Given the description of an element on the screen output the (x, y) to click on. 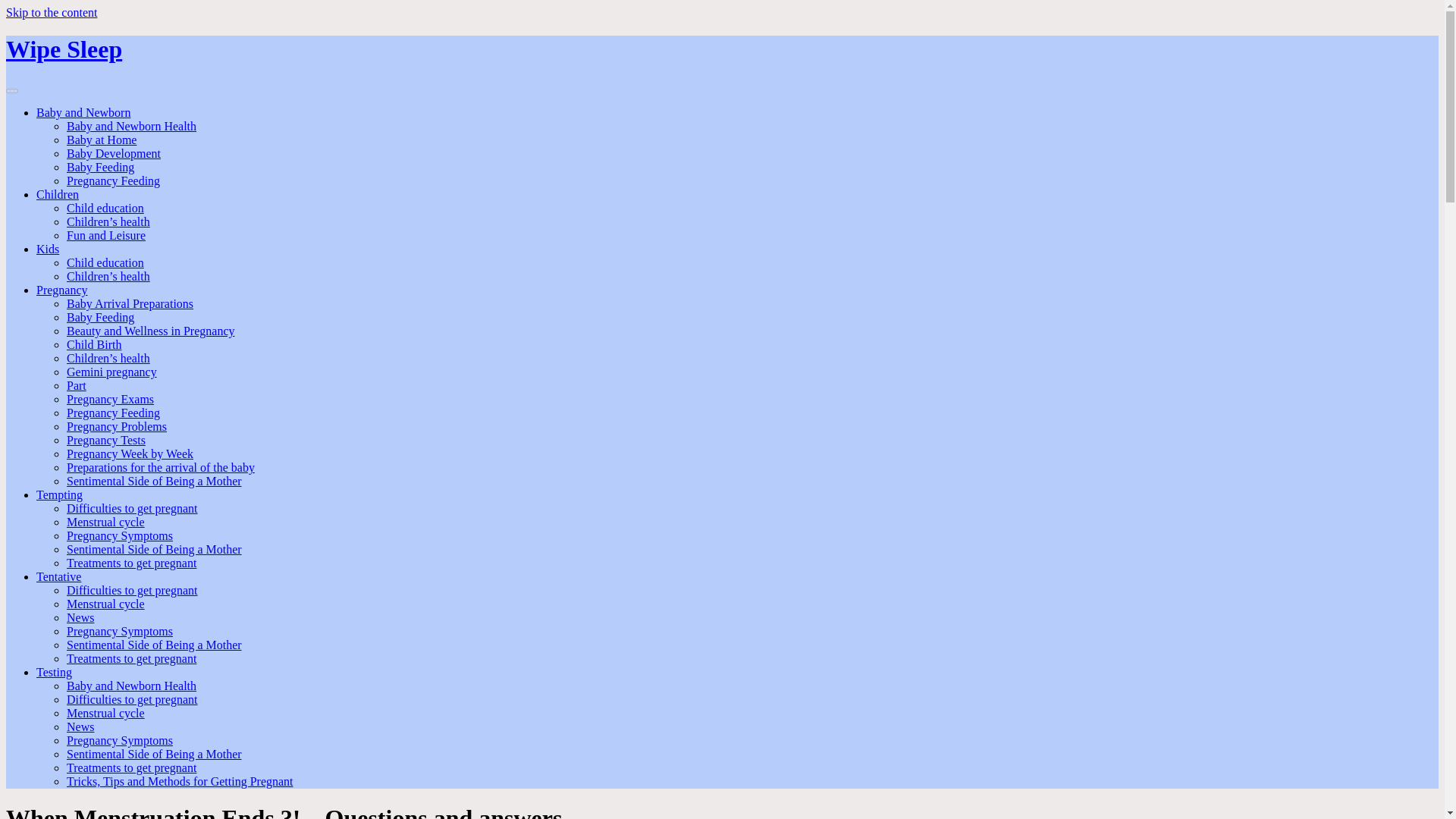
Pregnancy Problems (116, 426)
Baby Arrival Preparations (129, 303)
Difficulties to get pregnant (132, 590)
Baby Feeding (99, 317)
Pregnancy Feeding (113, 180)
Tempting (59, 494)
Treatments to get pregnant (131, 562)
Kids (47, 248)
Wipe Sleep (63, 49)
Baby Feeding (99, 166)
